Given the description of an element on the screen output the (x, y) to click on. 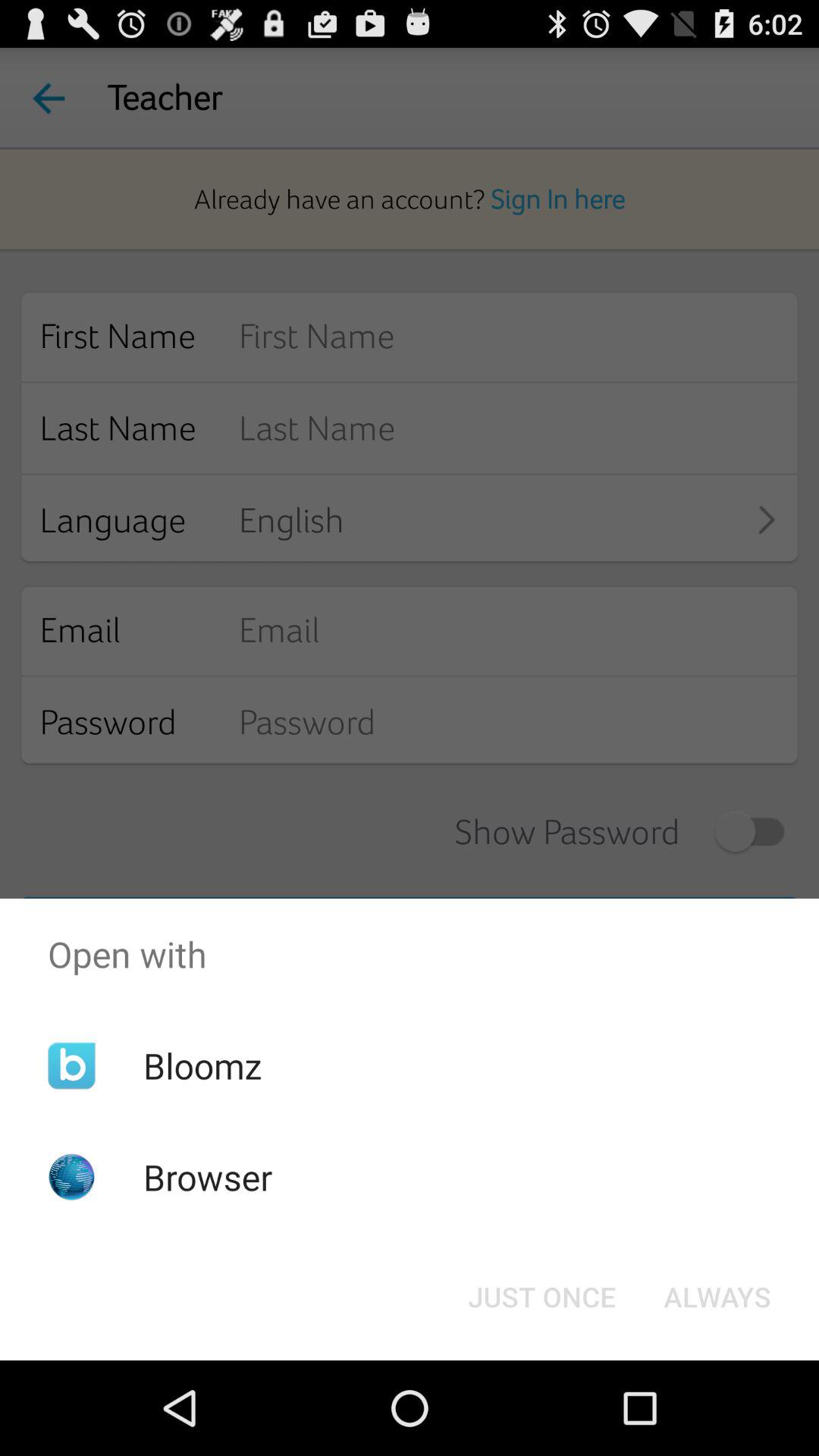
tap icon next to just once button (717, 1296)
